Given the description of an element on the screen output the (x, y) to click on. 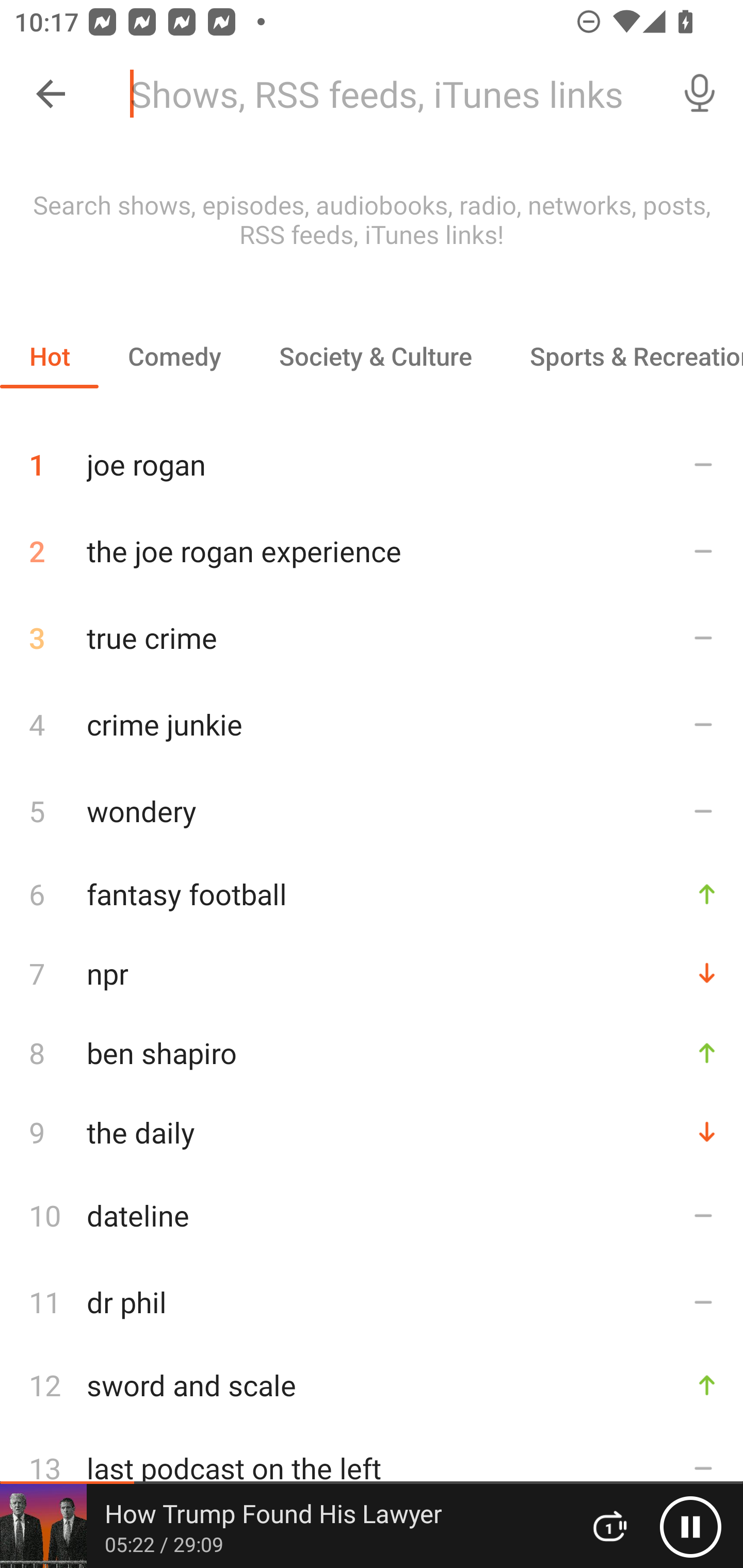
Collapse (50, 93)
Voice Search (699, 93)
Shows, RSS feeds, iTunes links (385, 94)
Hot (49, 355)
Comedy (173, 355)
Society & Culture (374, 355)
Sports & Recreation (621, 355)
1 joe rogan (371, 457)
2 the joe rogan experience (371, 551)
3 true crime (371, 637)
4 crime junkie (371, 723)
5 wondery (371, 810)
6 fantasy football (371, 893)
7 npr (371, 972)
8 ben shapiro (371, 1052)
9 the daily (371, 1131)
10 dateline (371, 1215)
11 dr phil (371, 1302)
12 sword and scale (371, 1385)
13 last podcast on the left (371, 1468)
How Trump Found His Lawyer 05:22 / 29:09 (283, 1525)
Pause (690, 1526)
